Given the description of an element on the screen output the (x, y) to click on. 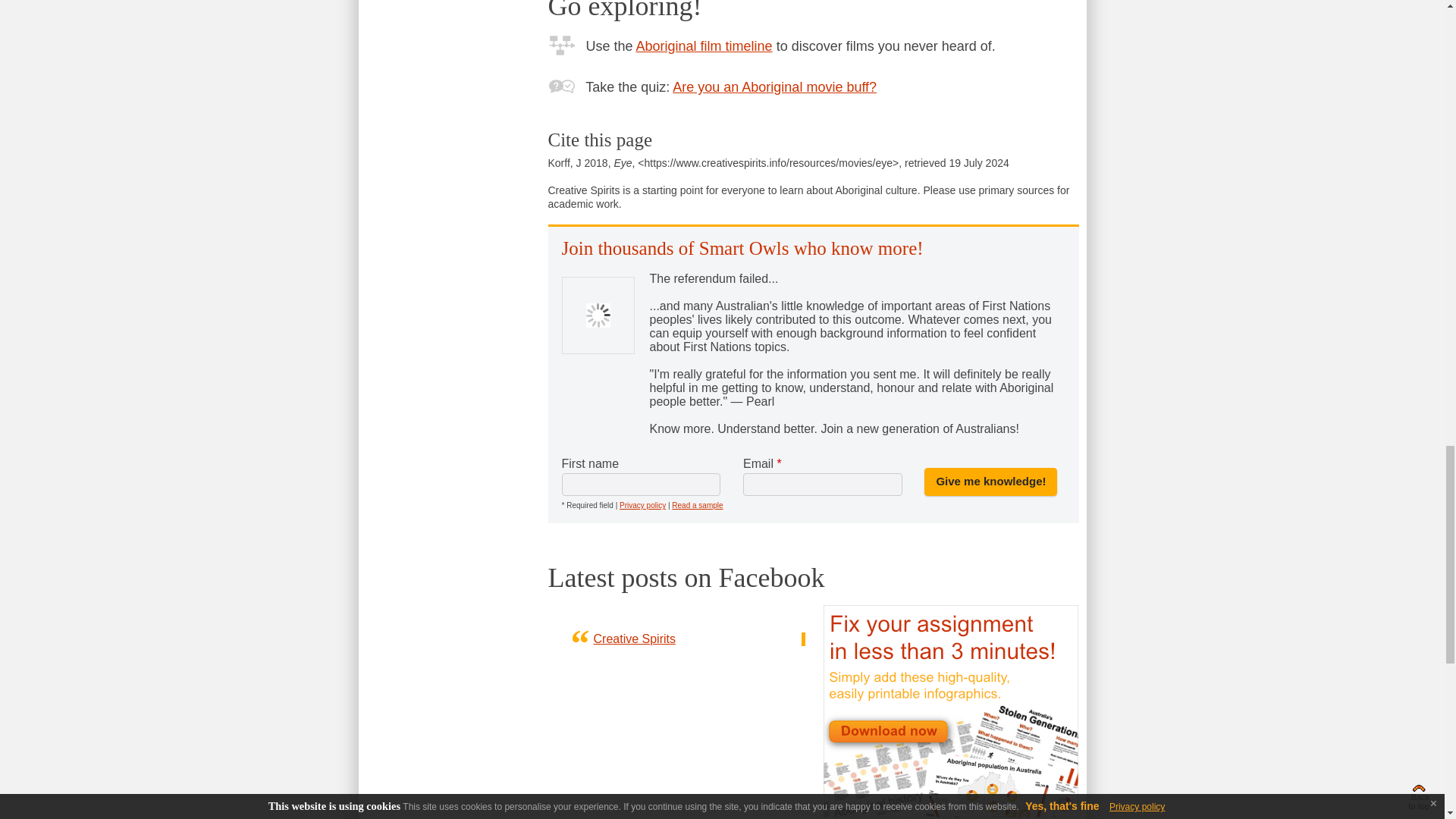
Only alphanumeric characters. Umlauts are fine. (640, 484)
